Given the description of an element on the screen output the (x, y) to click on. 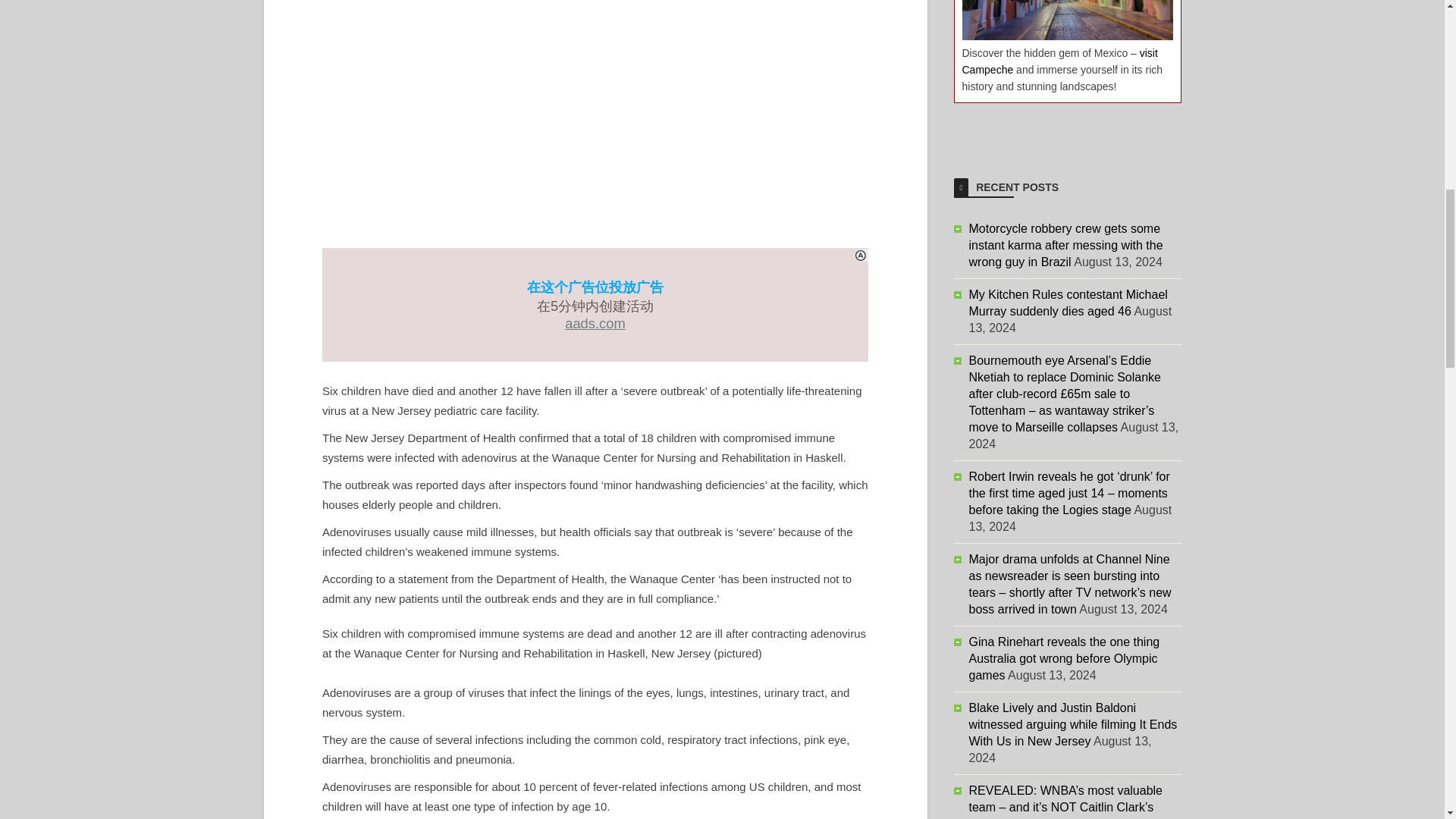
visit Campeche (1058, 61)
